Given the description of an element on the screen output the (x, y) to click on. 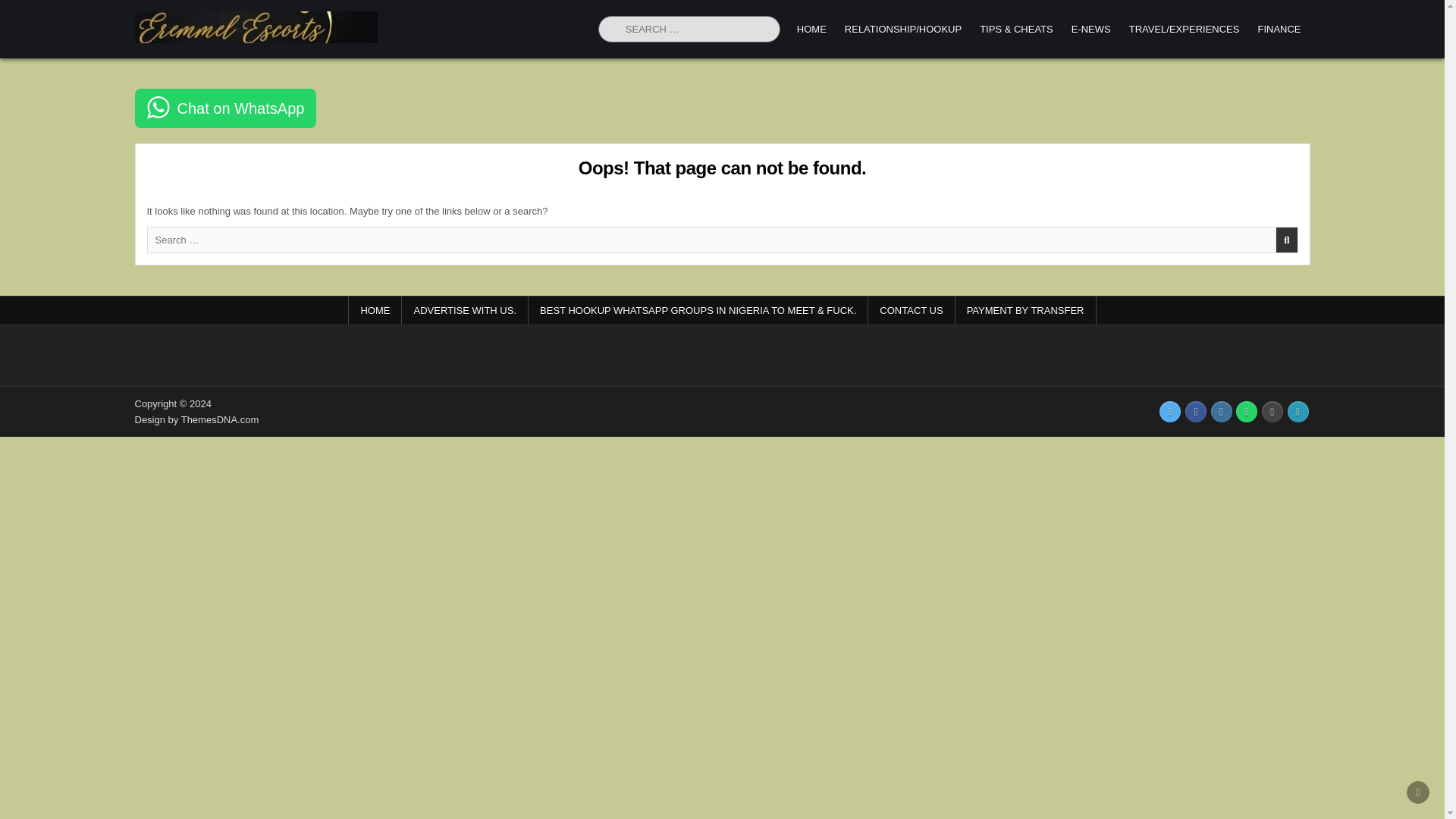
Chat on WhatsApp (226, 107)
PAYMENT BY TRANSFER (1025, 310)
FINANCE (1277, 29)
ADVERTISE WITH US. (464, 310)
Design by ThemesDNA.com (197, 419)
CONTACT US (911, 310)
E-NEWS (1090, 29)
HOME (374, 310)
HOME (811, 29)
